Given the description of an element on the screen output the (x, y) to click on. 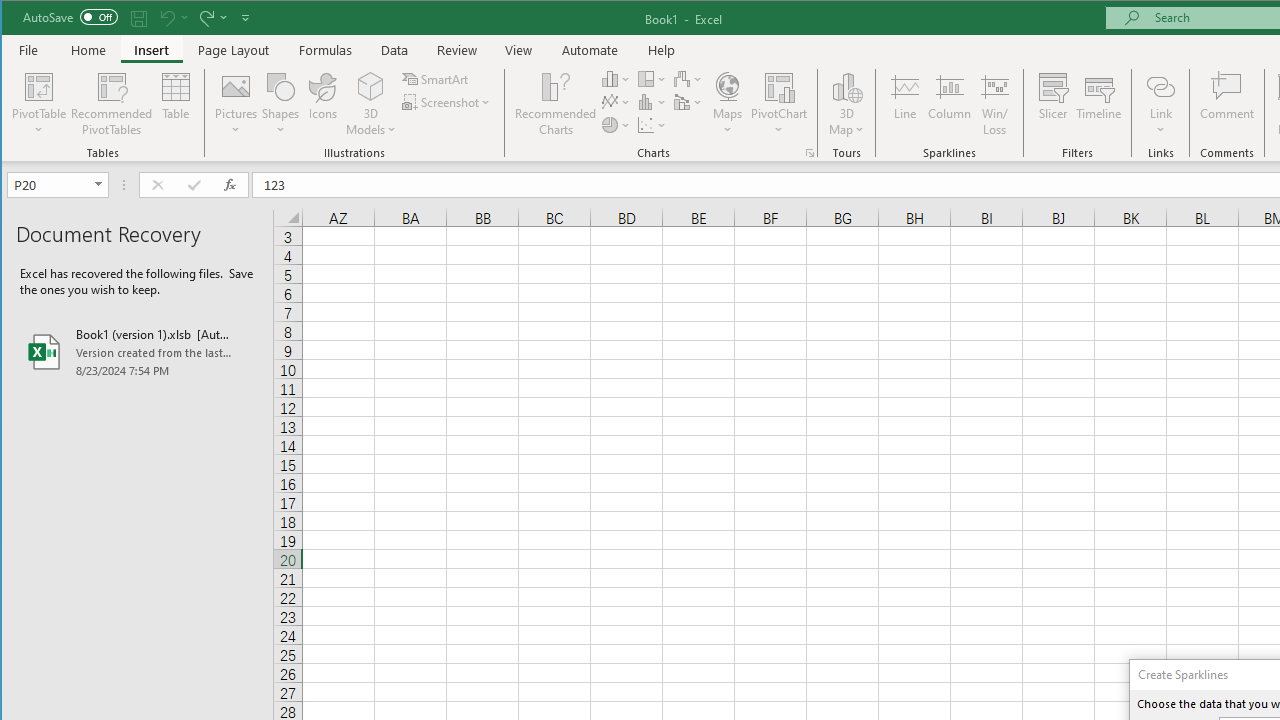
Link (1160, 104)
PivotTable (39, 86)
Icons (323, 104)
Win/Loss (995, 104)
SmartArt... (436, 78)
Line (904, 104)
Screenshot (447, 101)
Recommended PivotTables (111, 104)
PivotChart (779, 104)
